Given the description of an element on the screen output the (x, y) to click on. 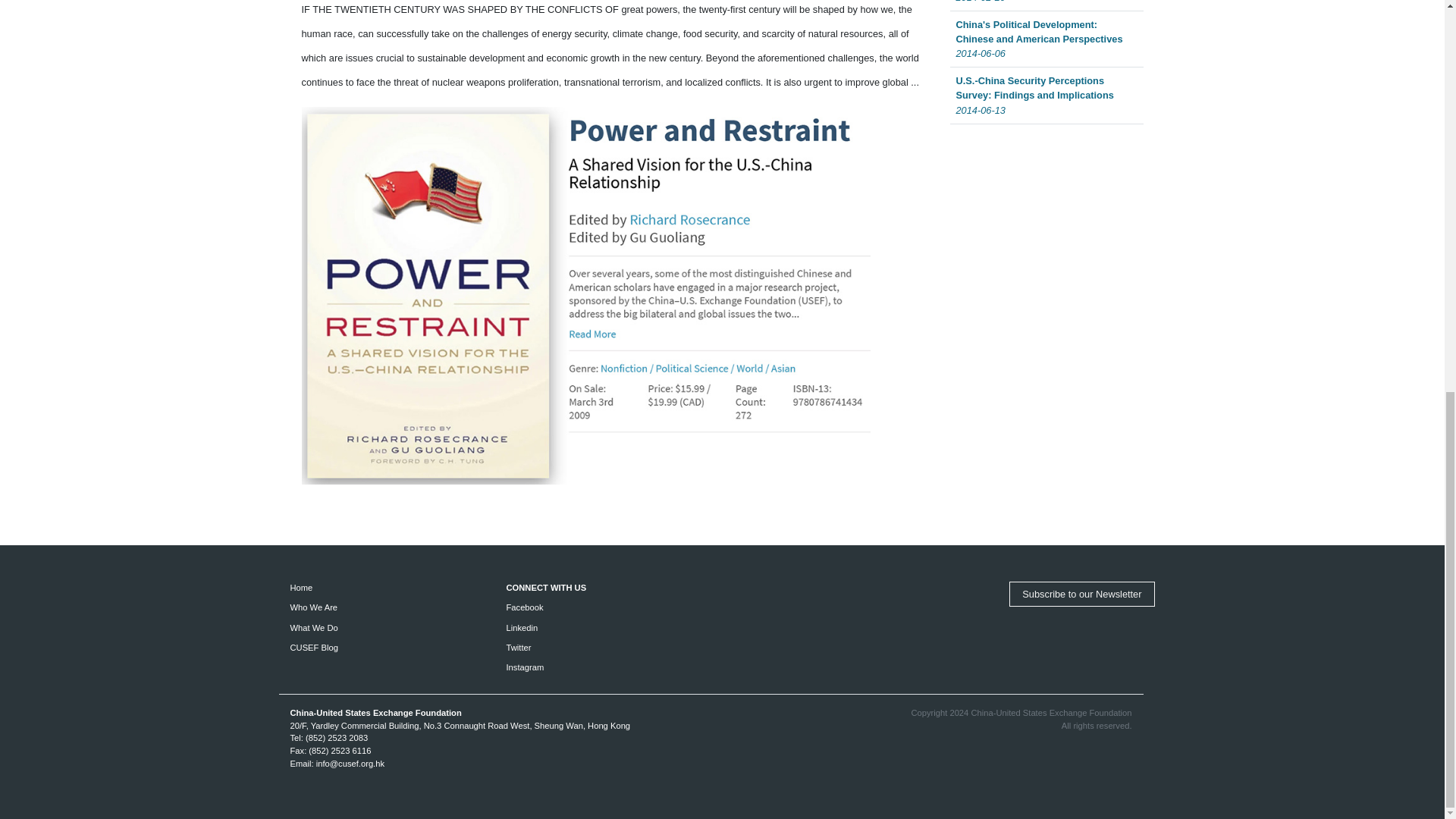
CUSEF Facebook (524, 606)
Home (301, 587)
Who We Are (313, 606)
What We Do (313, 627)
CUSEF Blog (313, 646)
